Given the description of an element on the screen output the (x, y) to click on. 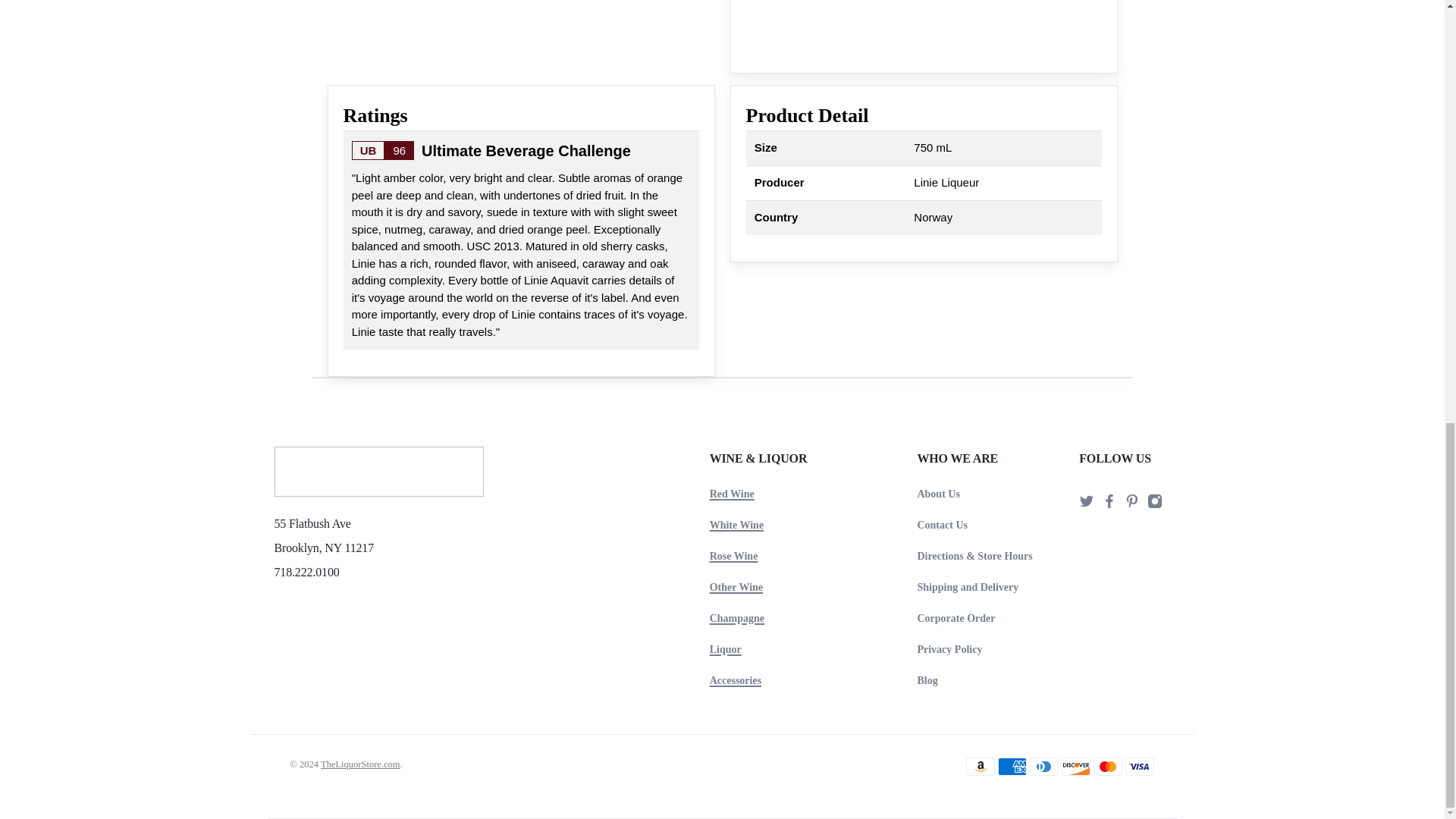
Mastercard (1107, 765)
Discover (1075, 765)
TheLiquorStore.com on Twitter (1086, 504)
TheLiquorStore.com on Pinterest (1132, 504)
TheLiquorStore.com on Instagram (1154, 504)
Amazon (980, 765)
Visa (1139, 765)
TheLiquorStore.com on Facebook (1109, 504)
Diners Club (1043, 765)
American Express (1011, 765)
TheLiquorStore.com (379, 478)
